Given the description of an element on the screen output the (x, y) to click on. 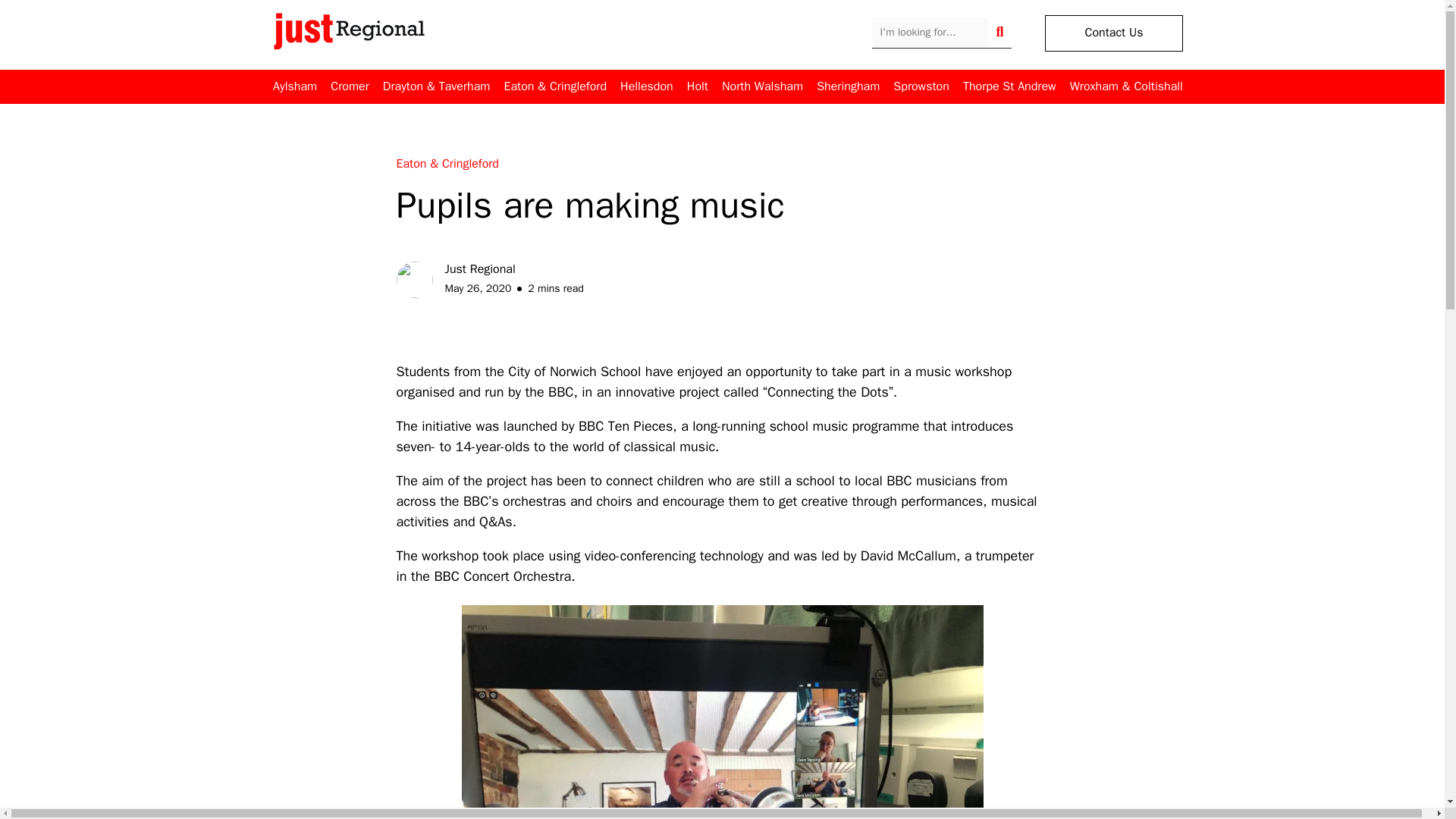
Thorpe St Andrew (1009, 86)
Aylsham (295, 86)
Hellesdon (646, 86)
North Walsham (762, 86)
Contact Us (1113, 33)
Cromer (349, 86)
Sheringham (847, 86)
Sprowston (921, 86)
